Given the description of an element on the screen output the (x, y) to click on. 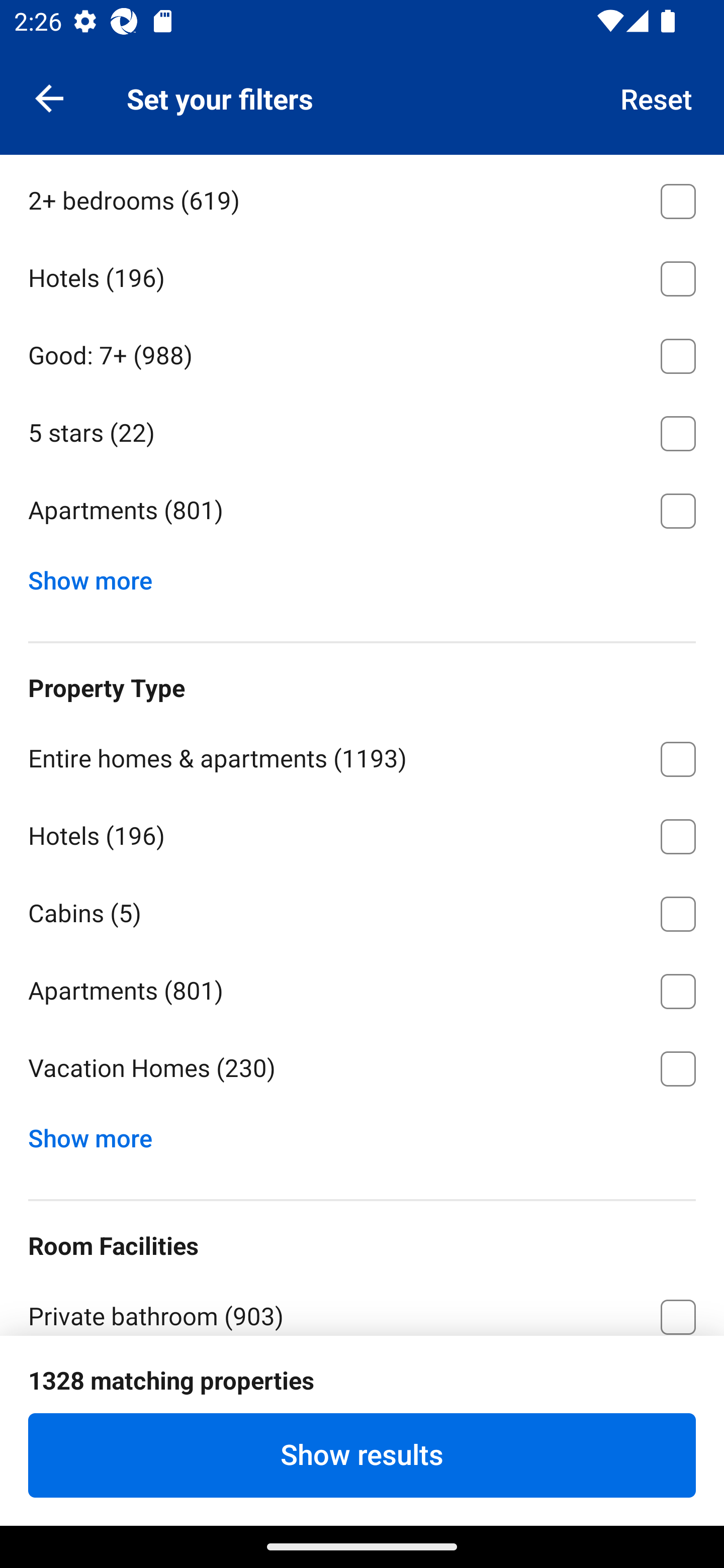
Navigate up (49, 97)
Reset (656, 97)
2+ bedrooms ⁦(619) (361, 197)
Hotels ⁦(196) (361, 274)
Good: 7+ ⁦(988) (361, 352)
5 stars ⁦(22) (361, 430)
Apartments ⁦(801) (361, 510)
Show more (97, 576)
Entire homes & apartments ⁦(1193) (361, 755)
Hotels ⁦(196) (361, 832)
Cabins ⁦(5) (361, 909)
Apartments ⁦(801) (361, 987)
Vacation Homes ⁦(230) (361, 1069)
Show more (97, 1134)
Private bathroom ⁦(903) (361, 1304)
Air conditioning ⁦(1257) (361, 1390)
Show results (361, 1454)
